Given the description of an element on the screen output the (x, y) to click on. 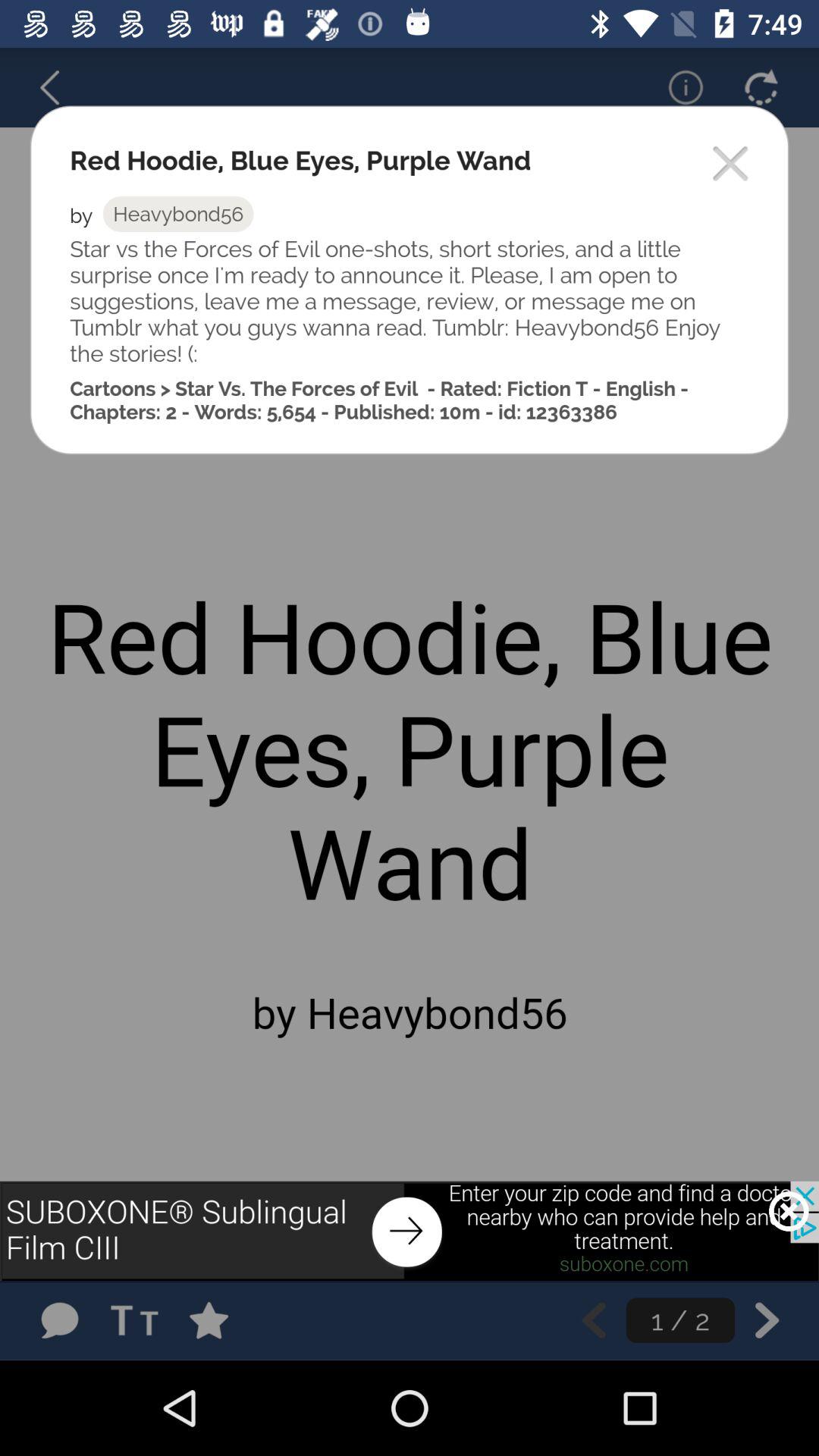
important information (675, 87)
